Given the description of an element on the screen output the (x, y) to click on. 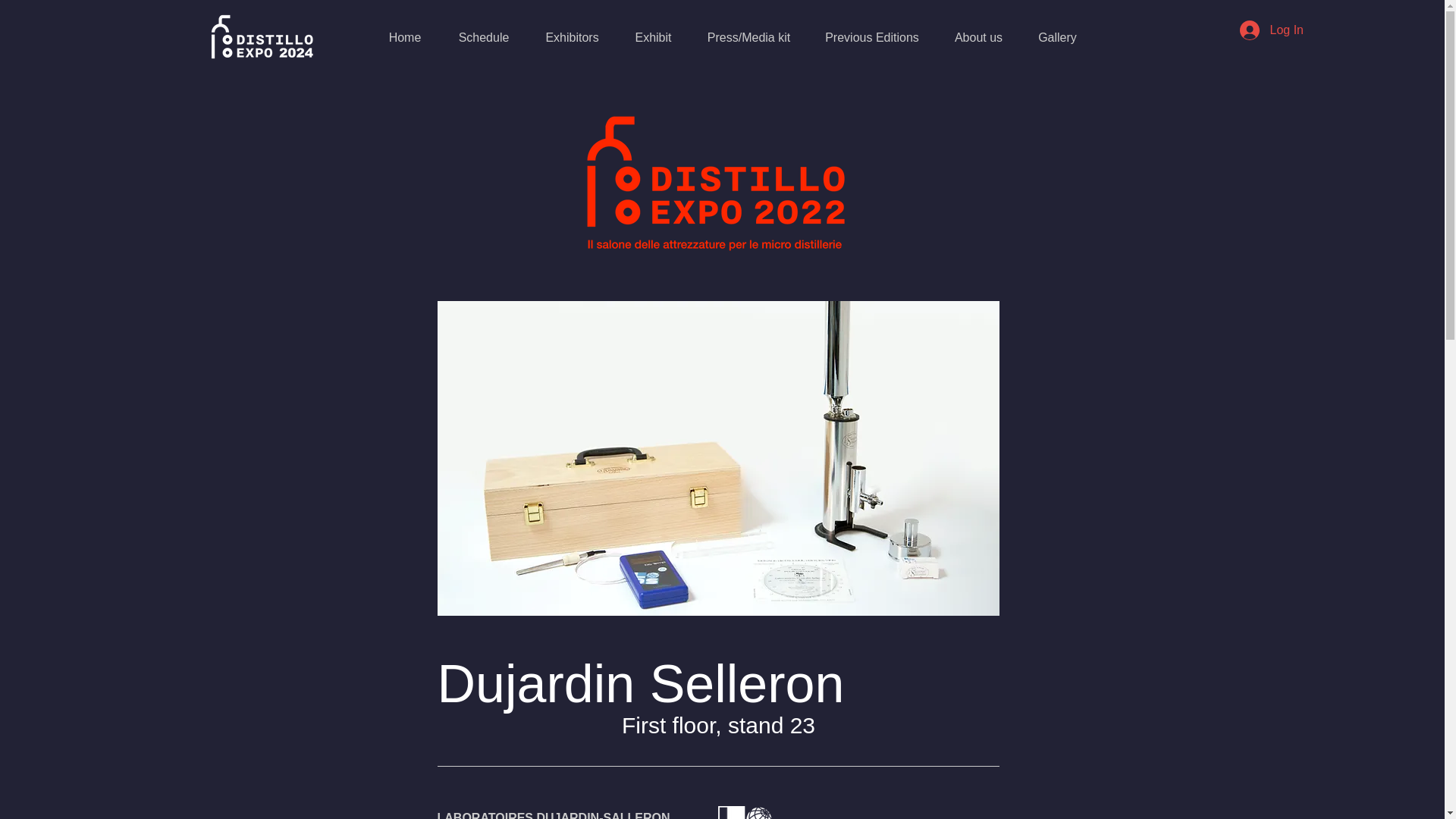
Exhibitors (572, 37)
About us (978, 37)
Home (405, 37)
Distillo Logo 2024 horizontal white tr (260, 36)
Previous Editions (872, 37)
Gallery (1056, 37)
Log In (1271, 30)
Schedule (483, 37)
Exhibit (653, 37)
